Given the description of an element on the screen output the (x, y) to click on. 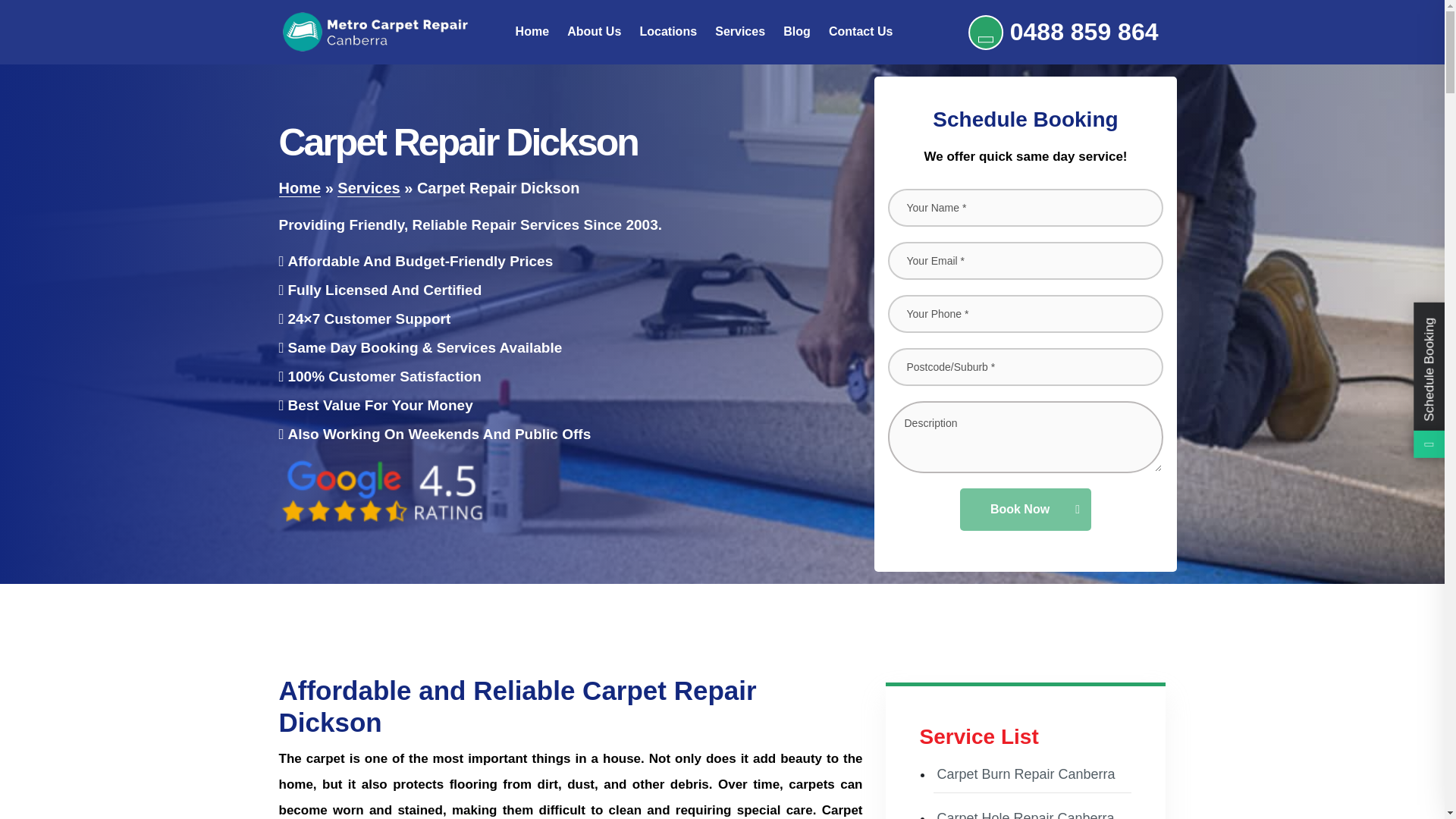
Blog (796, 31)
Services (739, 31)
0488 859 864 (1063, 31)
About Us (594, 31)
Home (531, 31)
Home (300, 188)
Contact Us (860, 31)
Services (367, 188)
Locations (668, 31)
